Given the description of an element on the screen output the (x, y) to click on. 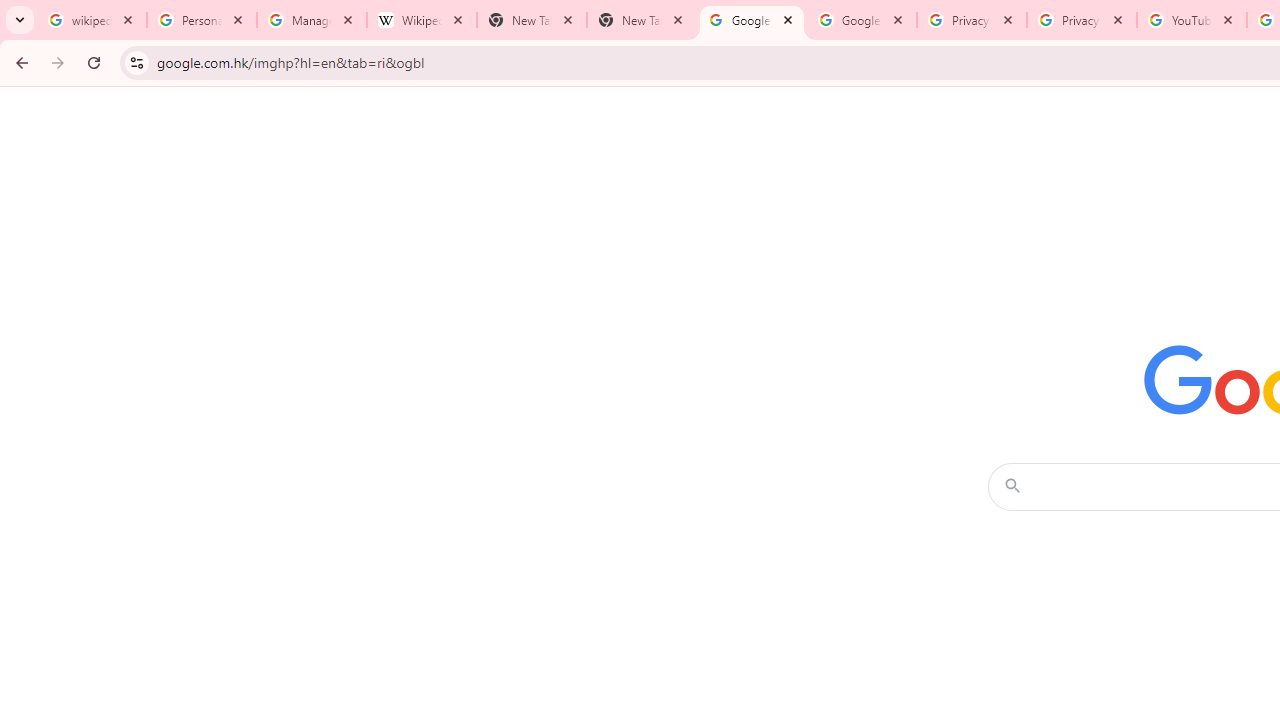
Manage your Location History - Google Search Help (312, 20)
Google Drive: Sign-in (861, 20)
YouTube (1191, 20)
